Given the description of an element on the screen output the (x, y) to click on. 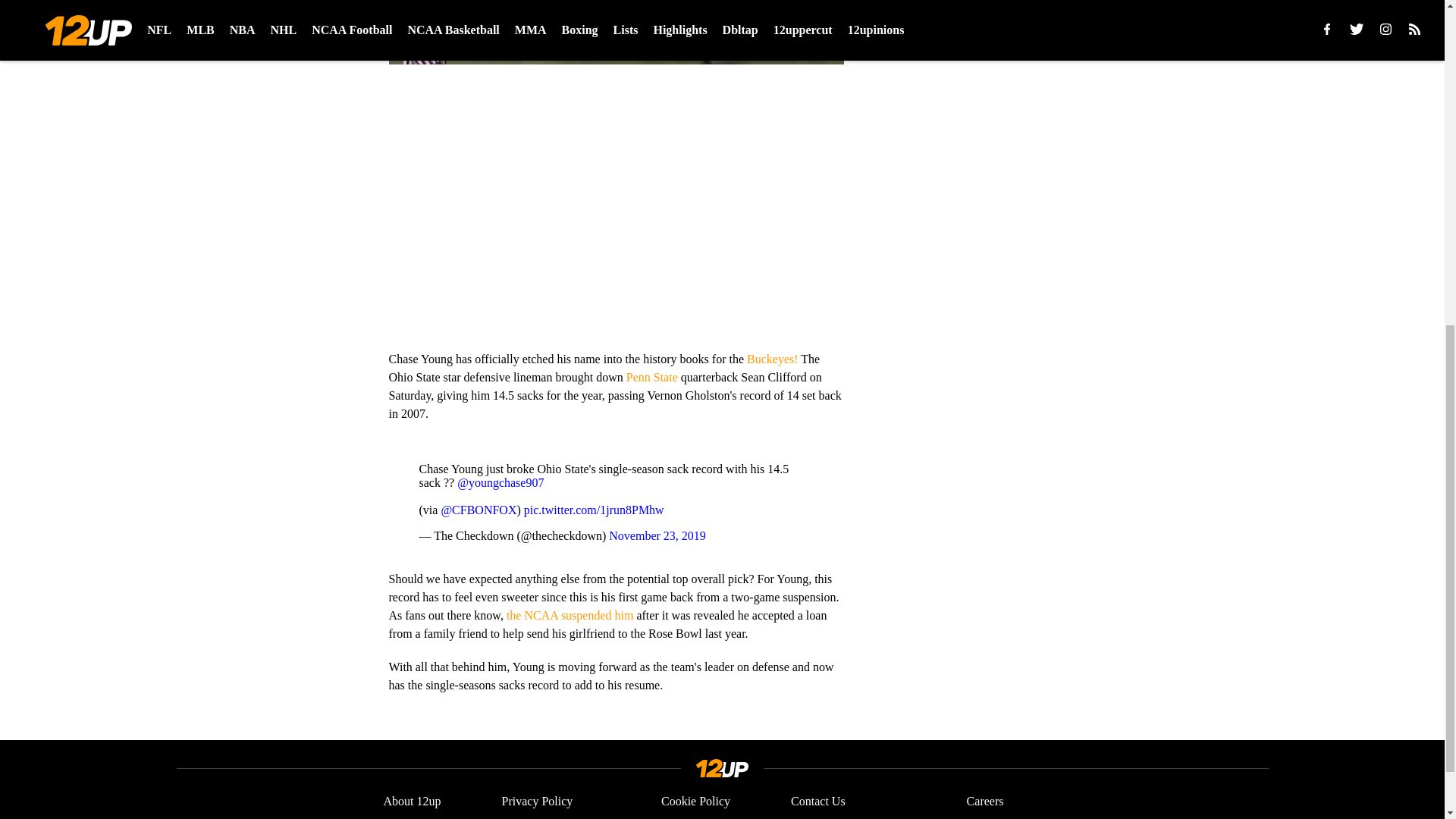
Careers (985, 801)
Contact Us (817, 801)
the NCAA suspended him (569, 615)
Privacy Policy (537, 801)
Buckeyes! (771, 358)
Cookie Policy (695, 801)
November 23, 2019 (657, 535)
About 12up (412, 801)
Penn State (652, 377)
